Given the description of an element on the screen output the (x, y) to click on. 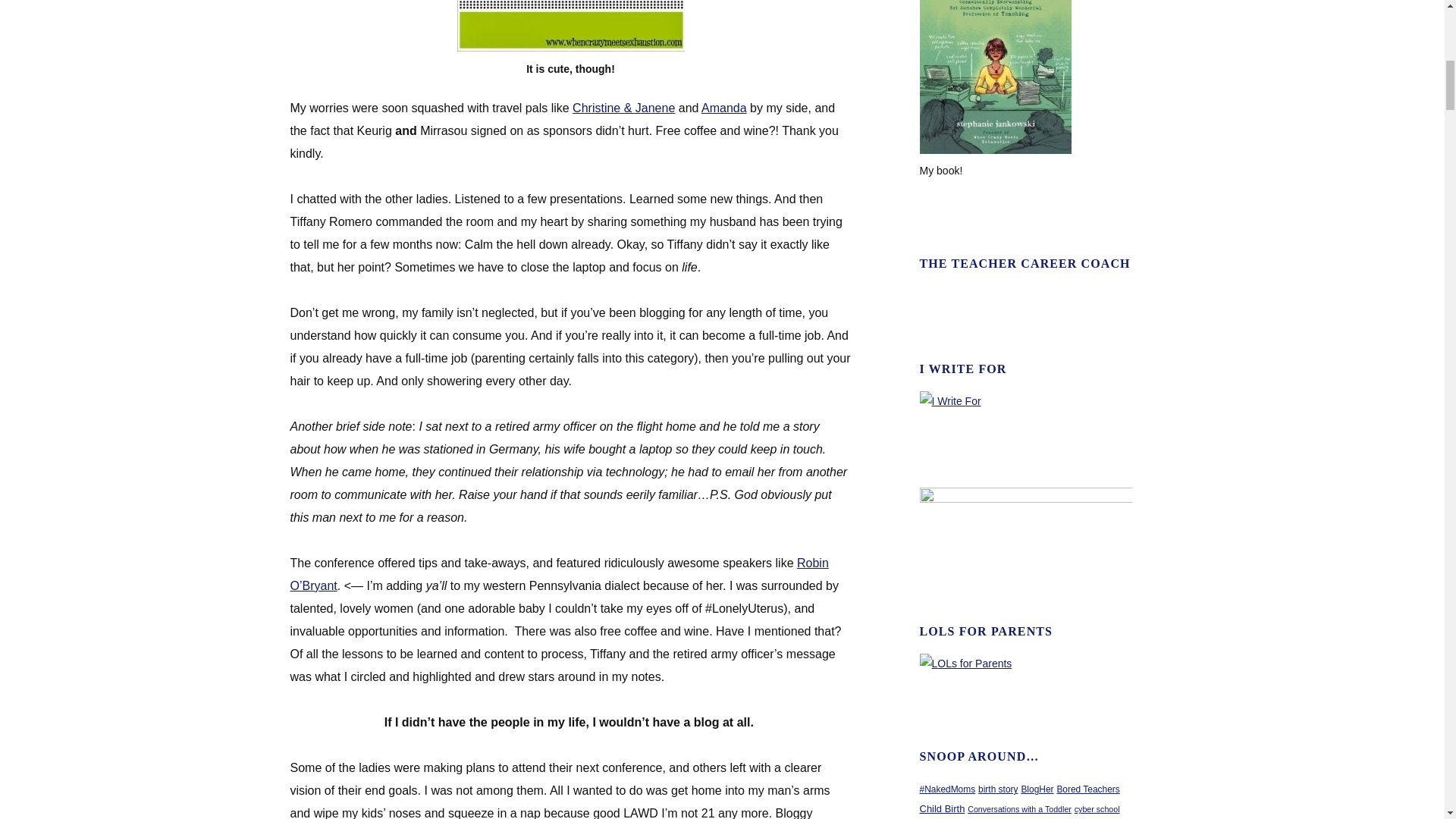
Schooled (995, 150)
Amanda (723, 107)
